Given the description of an element on the screen output the (x, y) to click on. 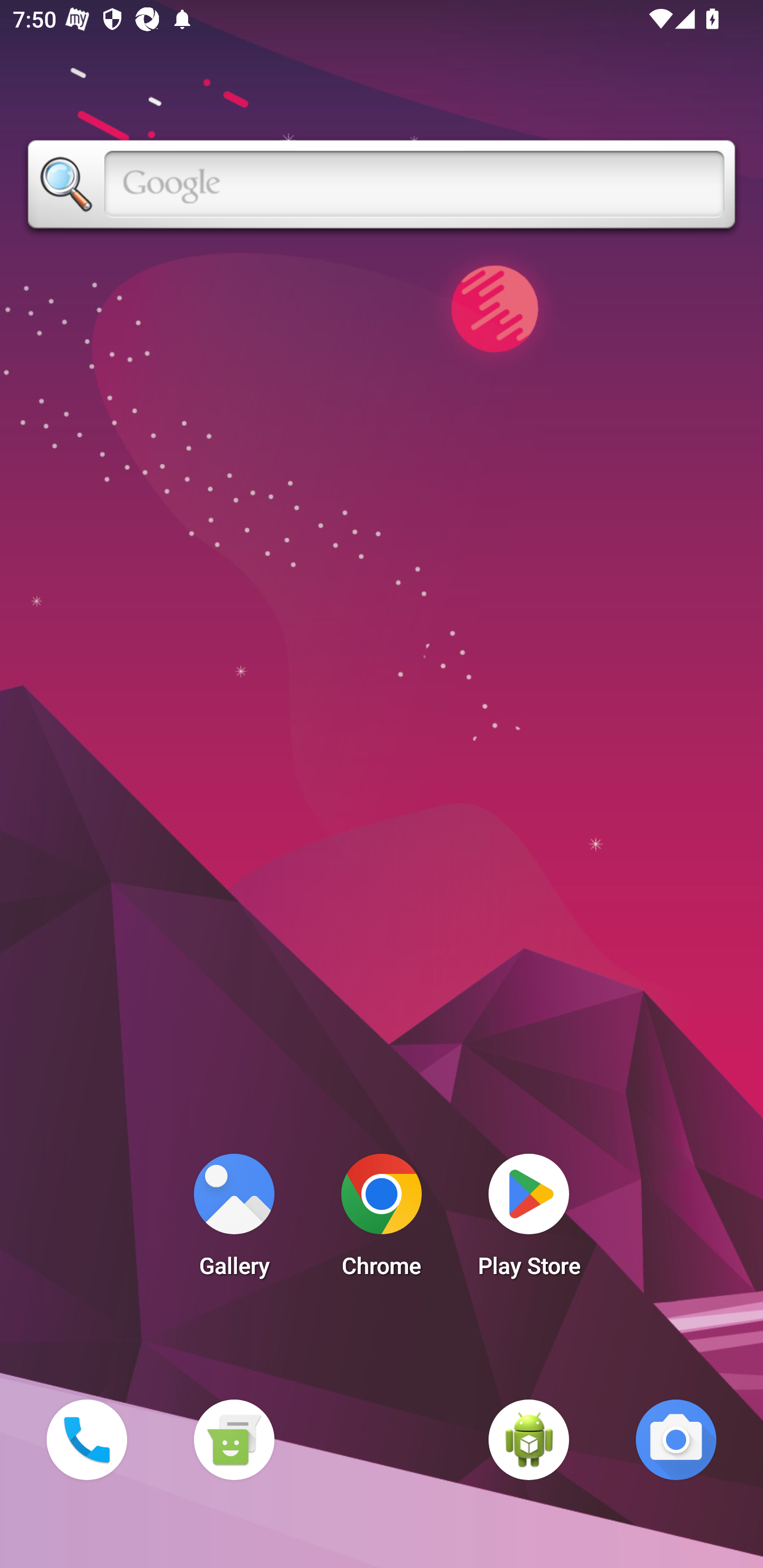
Gallery (233, 1220)
Chrome (381, 1220)
Play Store (528, 1220)
Phone (86, 1439)
Messaging (233, 1439)
WebView Browser Tester (528, 1439)
Camera (676, 1439)
